Given the description of an element on the screen output the (x, y) to click on. 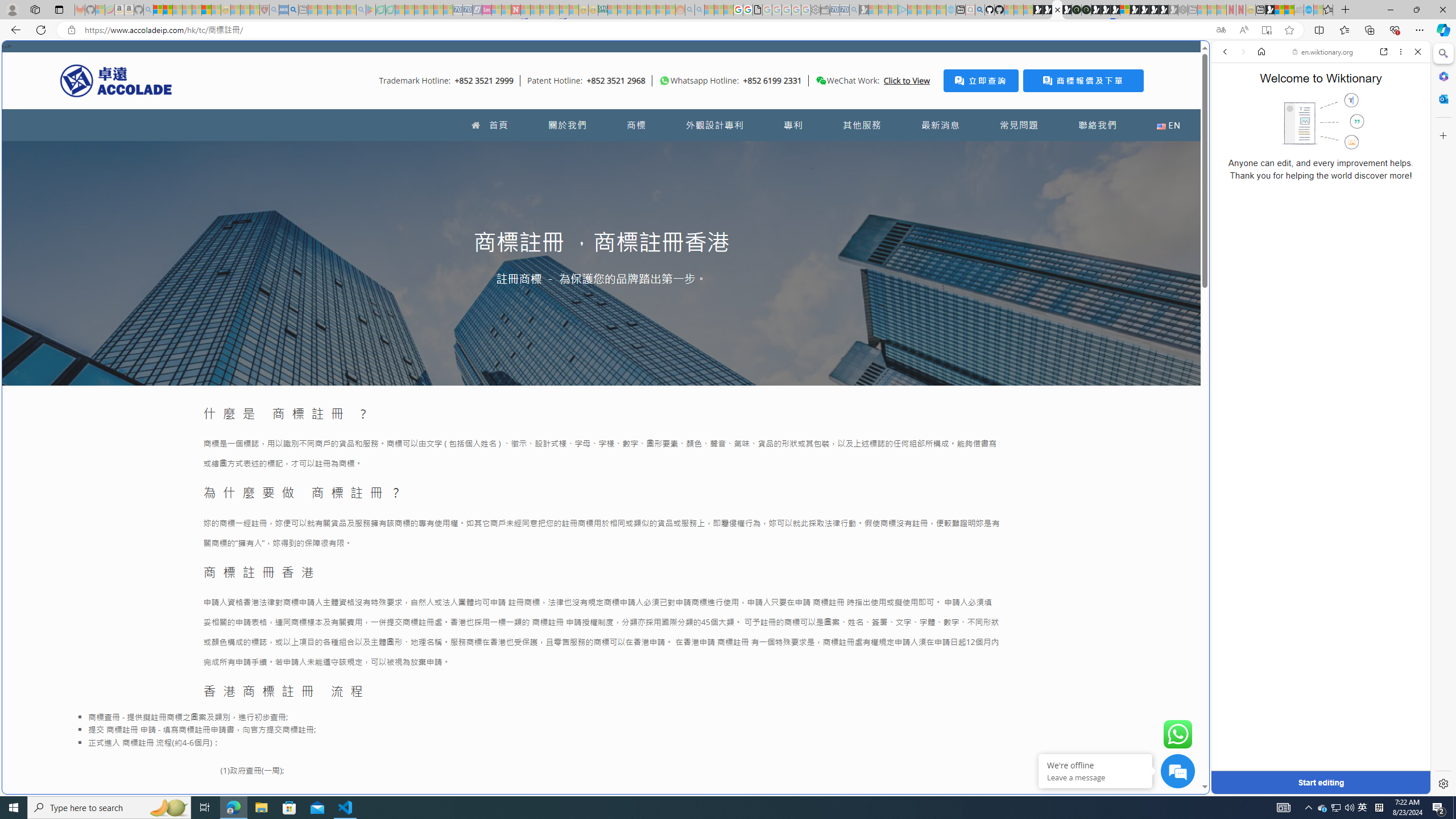
google - Search - Sleeping (360, 9)
Actions for this site (1370, 583)
